Given the description of an element on the screen output the (x, y) to click on. 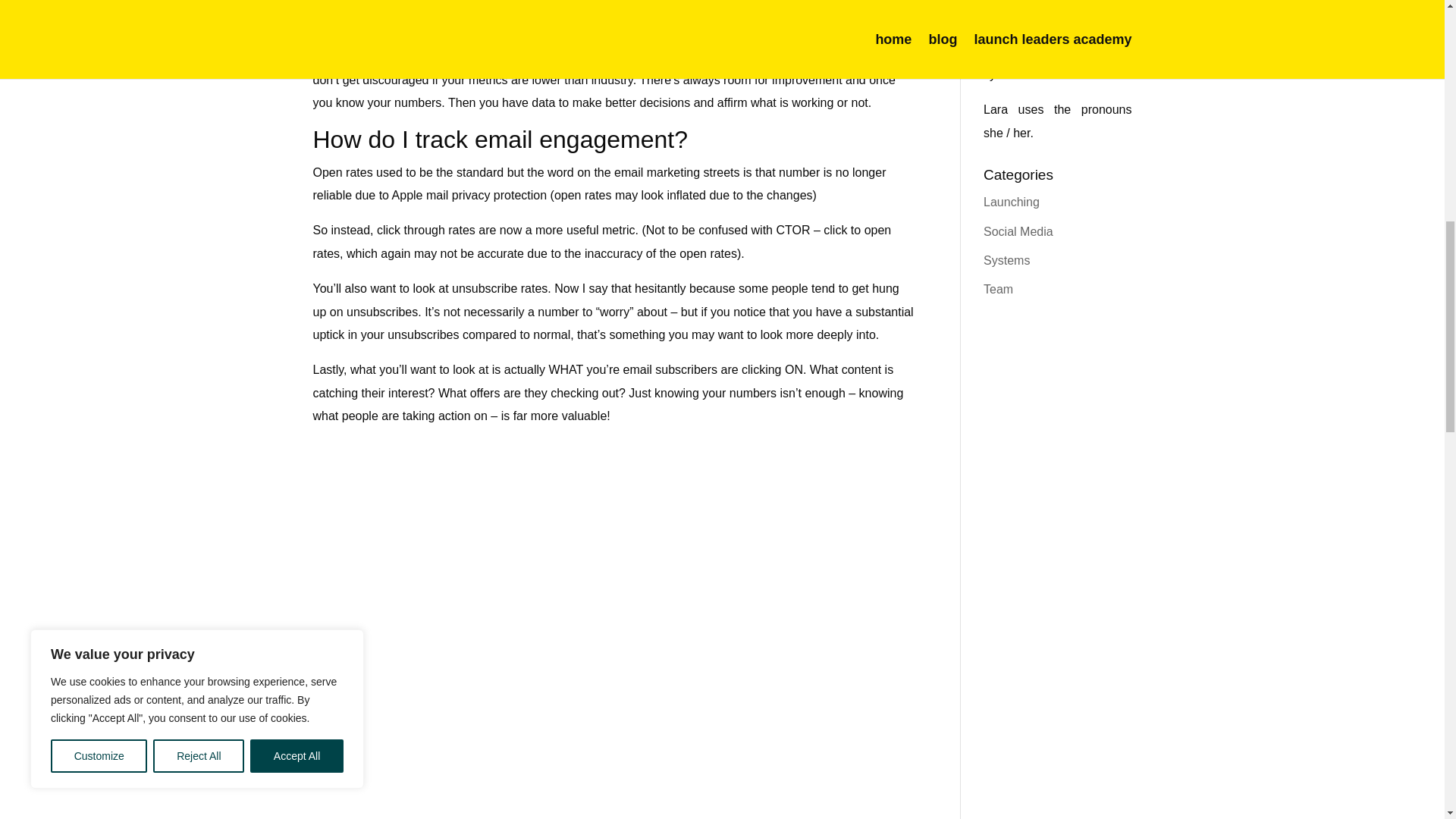
Systems (1006, 259)
Team (998, 288)
Social Media (1018, 231)
Launching (1011, 201)
